Given the description of an element on the screen output the (x, y) to click on. 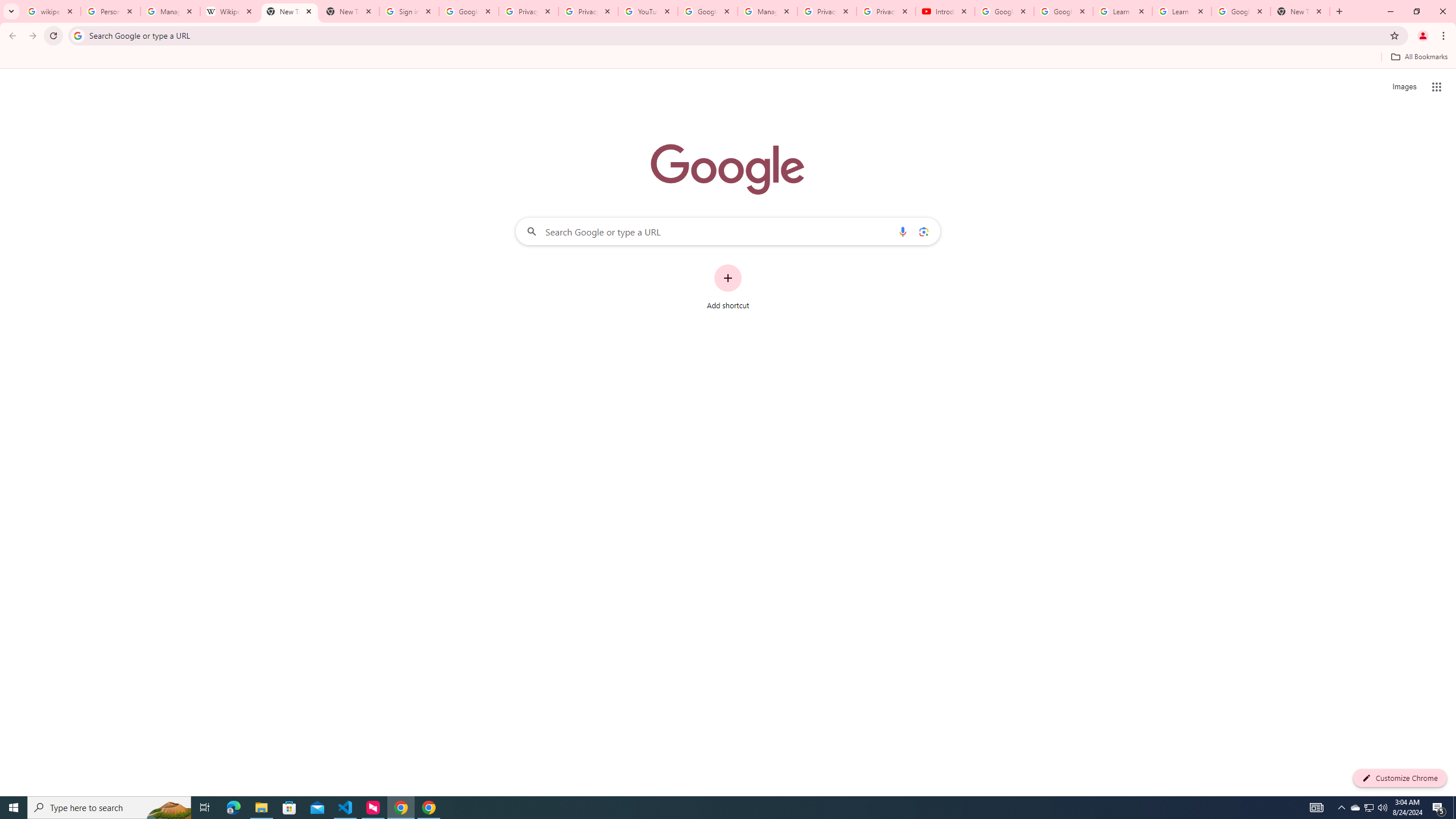
Google Account Help (707, 11)
Google Account Help (1063, 11)
Search Google or type a URL (727, 230)
